Given the description of an element on the screen output the (x, y) to click on. 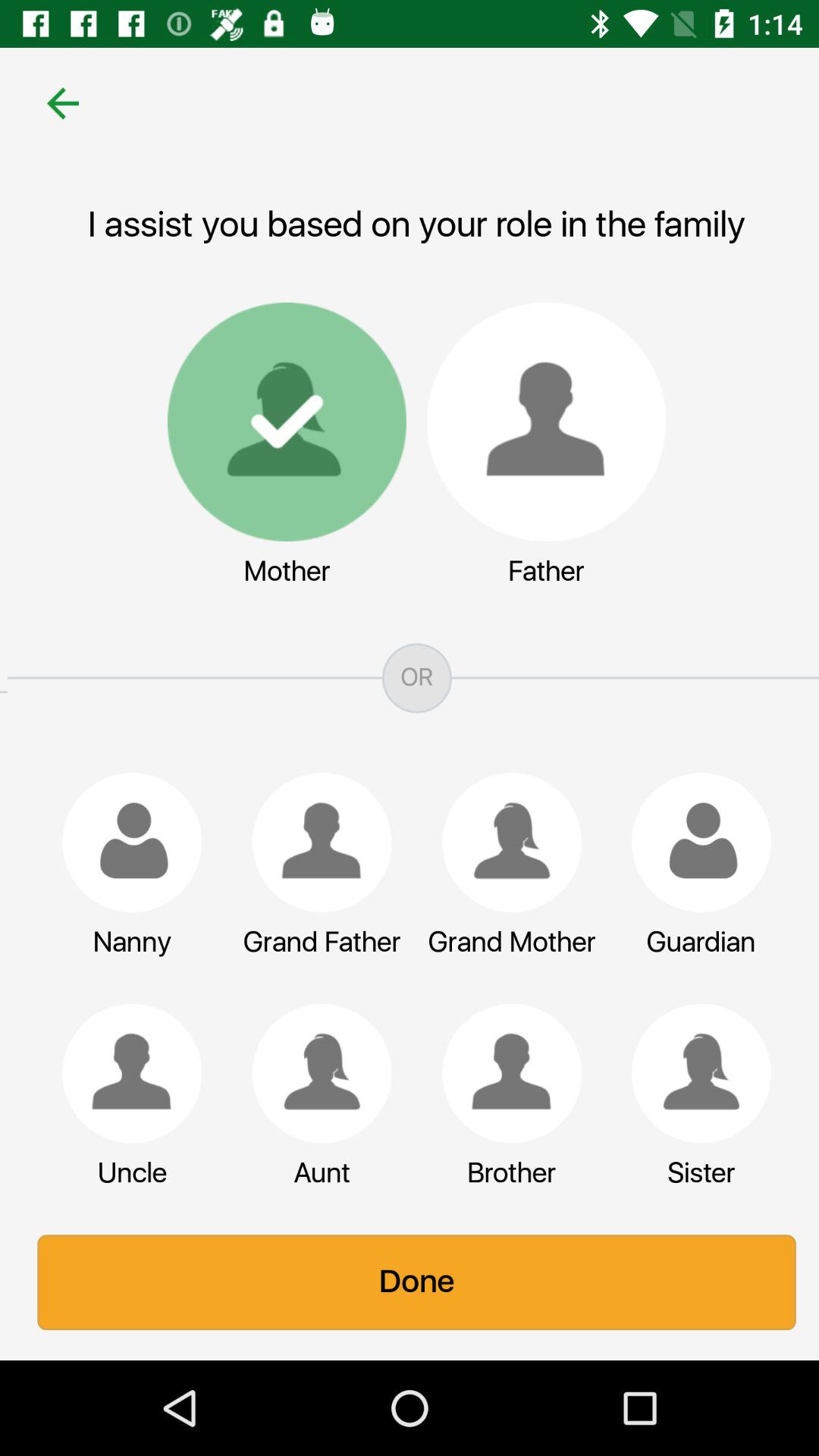
select guardian option (693, 842)
